Given the description of an element on the screen output the (x, y) to click on. 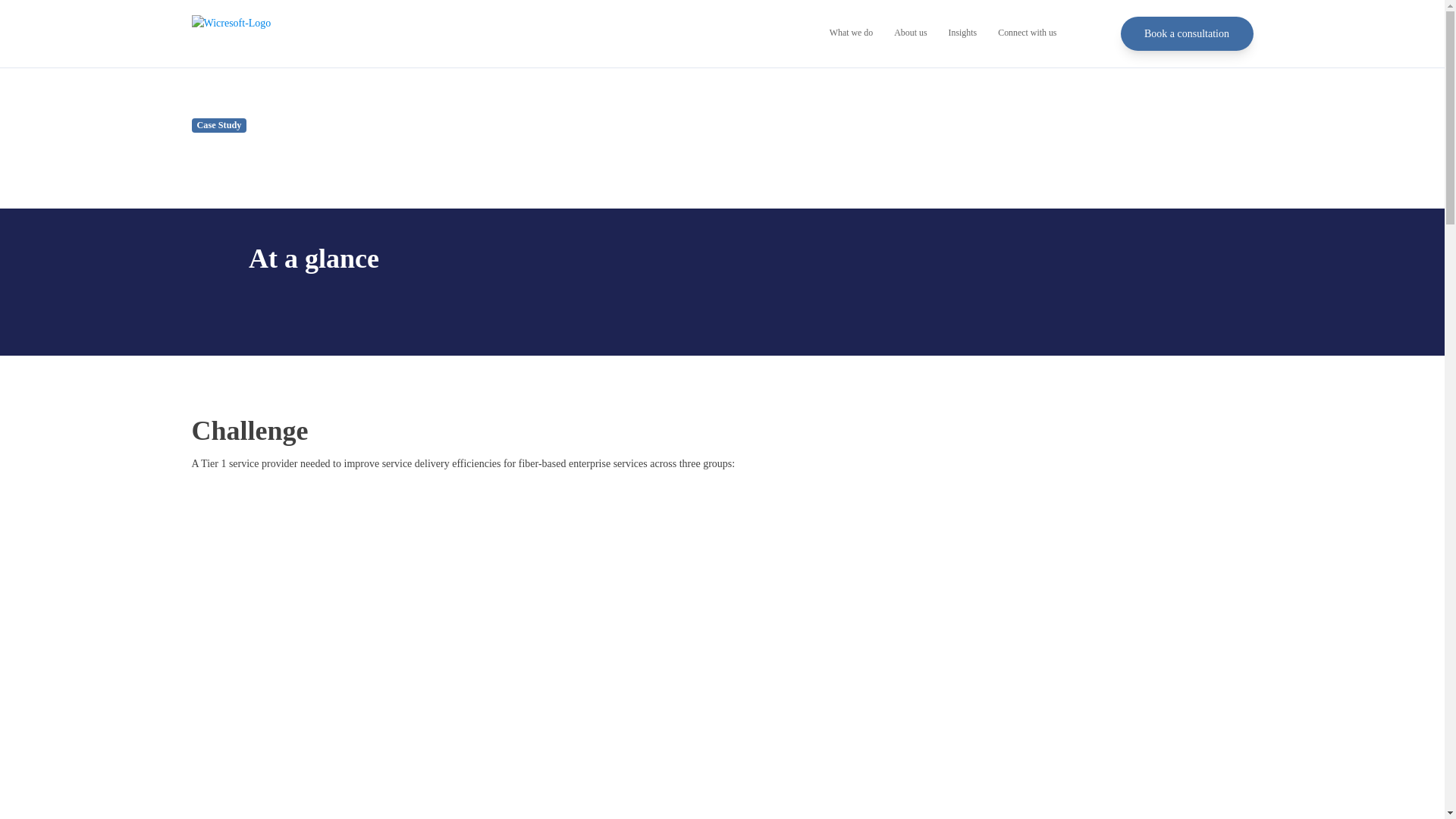
What we do (850, 33)
Wicresoft-Logo (266, 33)
